Given the description of an element on the screen output the (x, y) to click on. 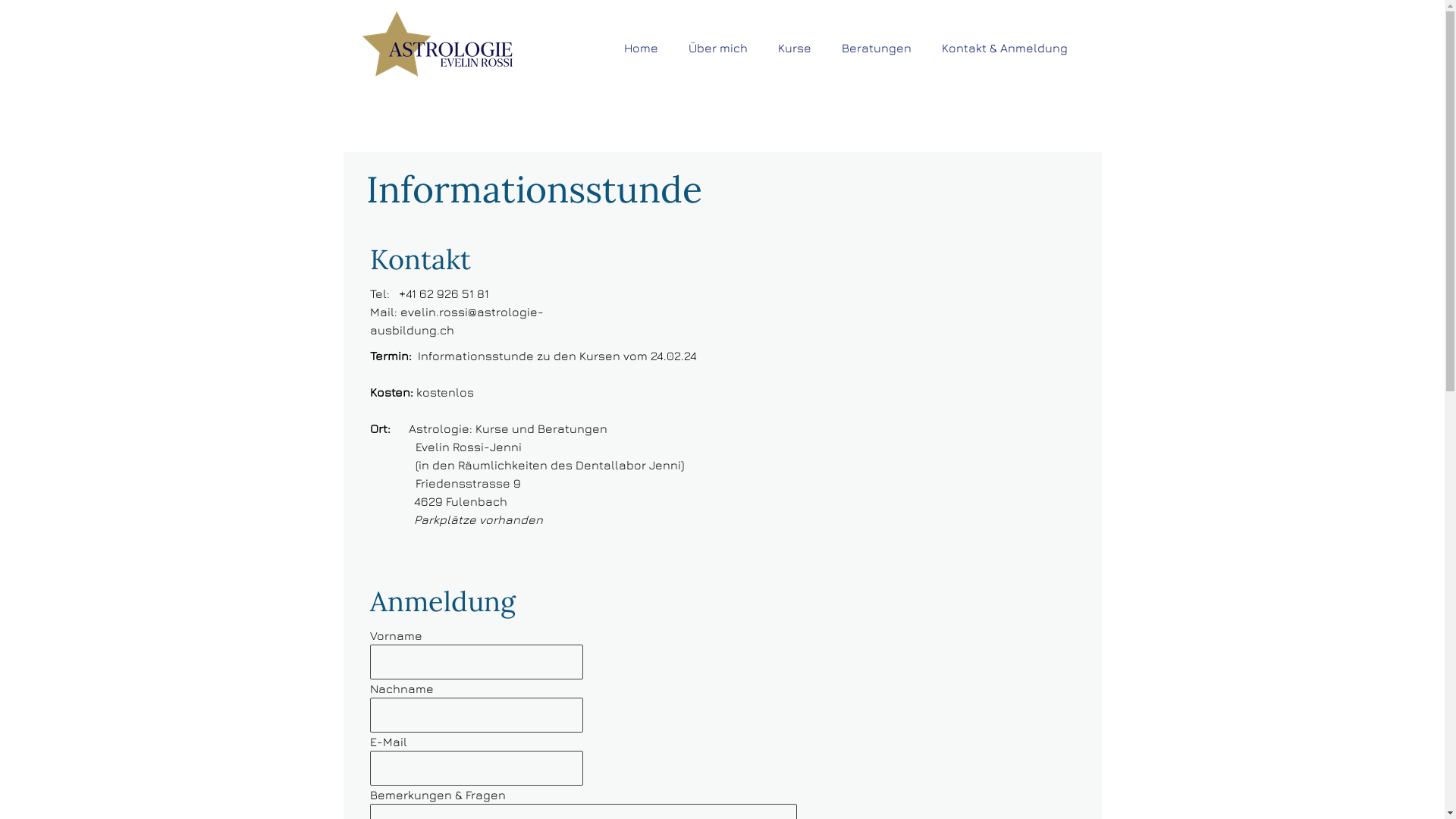
Home Element type: text (640, 46)
evelin.rossi@astrologie-ausbildung.ch Element type: text (456, 320)
Beratungen Element type: text (875, 46)
Kurse Element type: text (793, 46)
Kontakt & Anmeldung Element type: text (1003, 46)
